Given the description of an element on the screen output the (x, y) to click on. 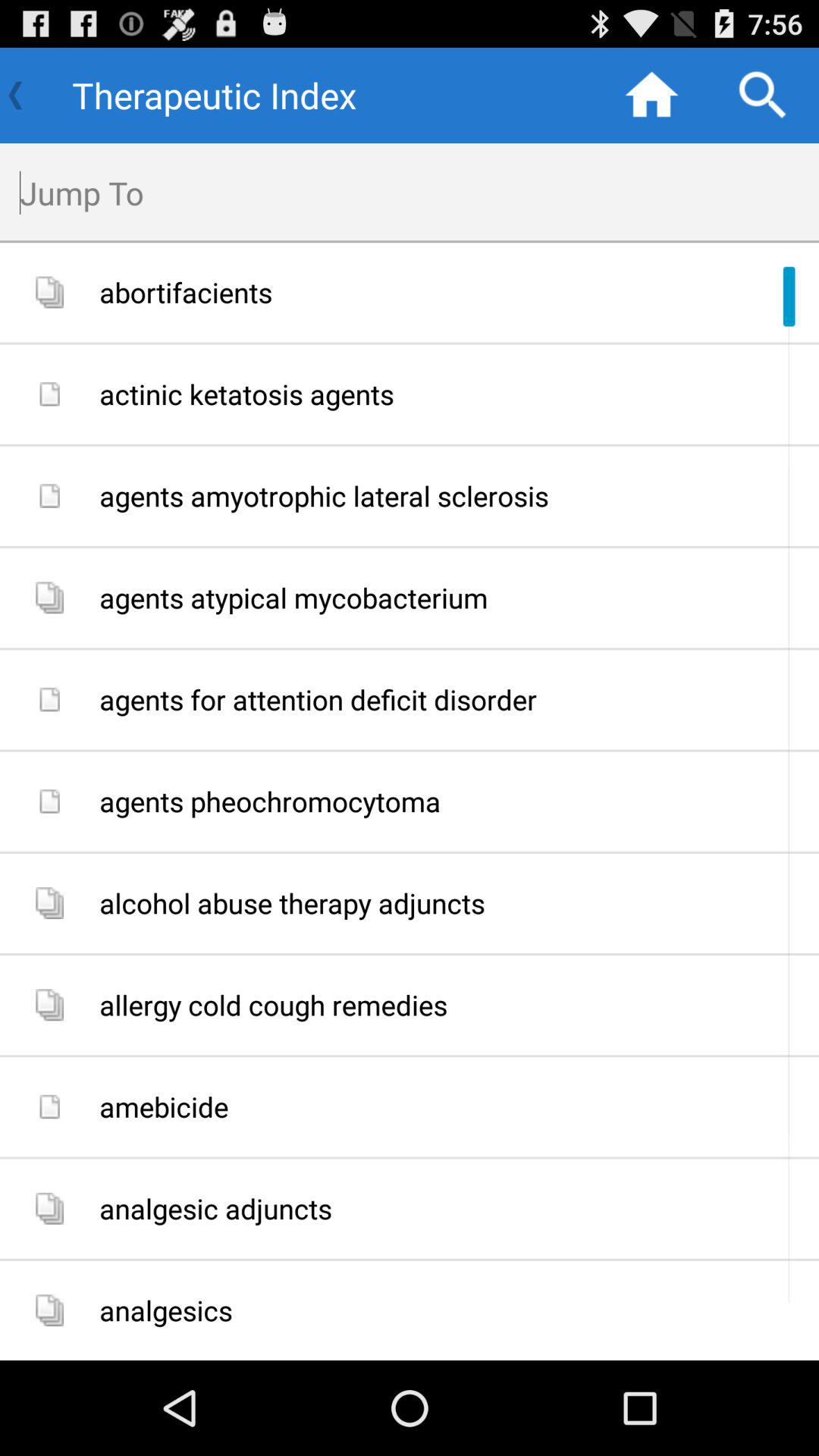
open allergy cold cough item (453, 1005)
